Given the description of an element on the screen output the (x, y) to click on. 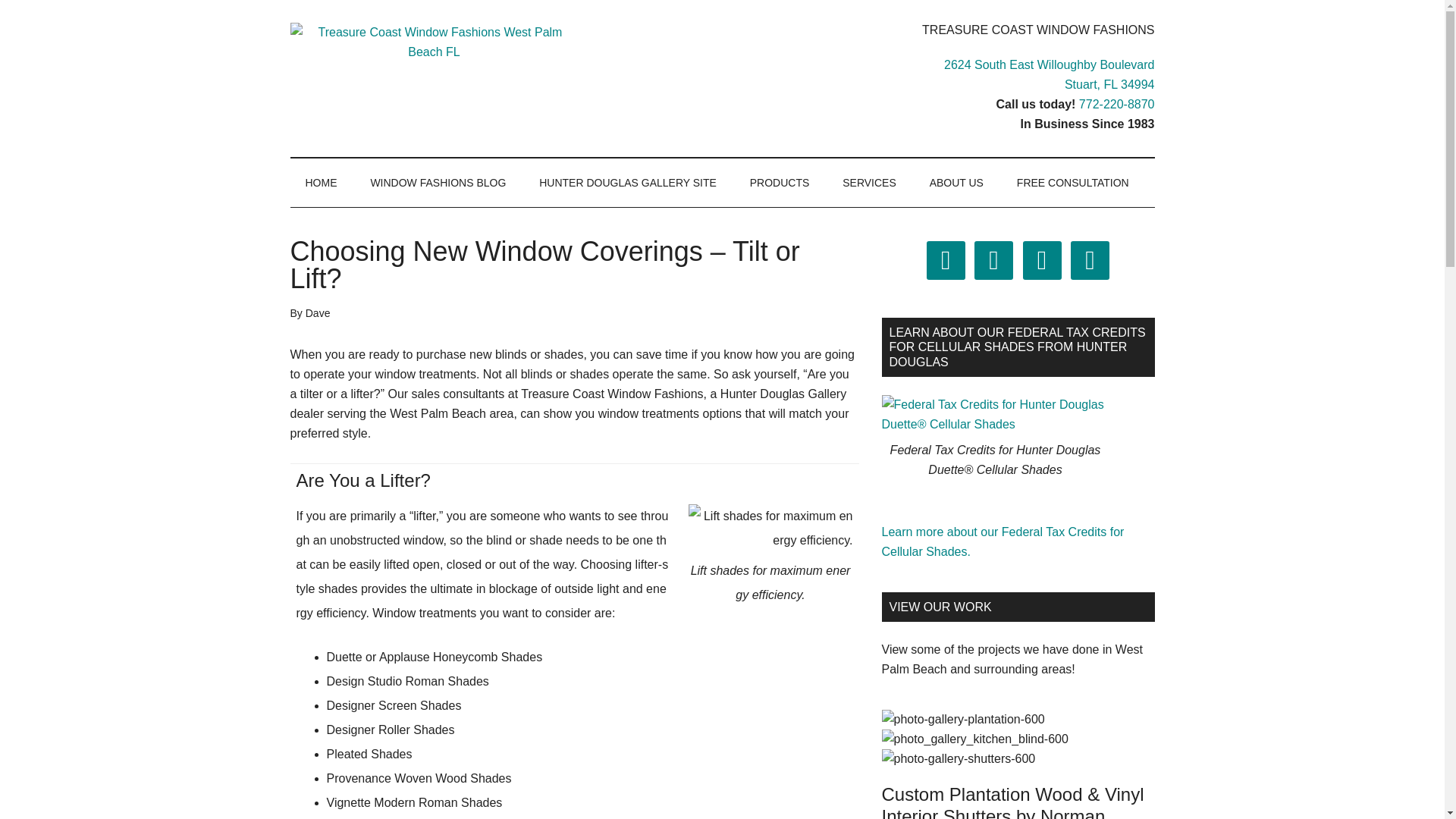
Facebook (945, 259)
facebook (945, 259)
Lift shades for maximum energy efficiency. (770, 528)
FREE CONSULTATION (1072, 182)
Houzz (993, 259)
Yelp (1042, 259)
HOME (1048, 74)
Google (320, 182)
yelp (1089, 259)
